Given the description of an element on the screen output the (x, y) to click on. 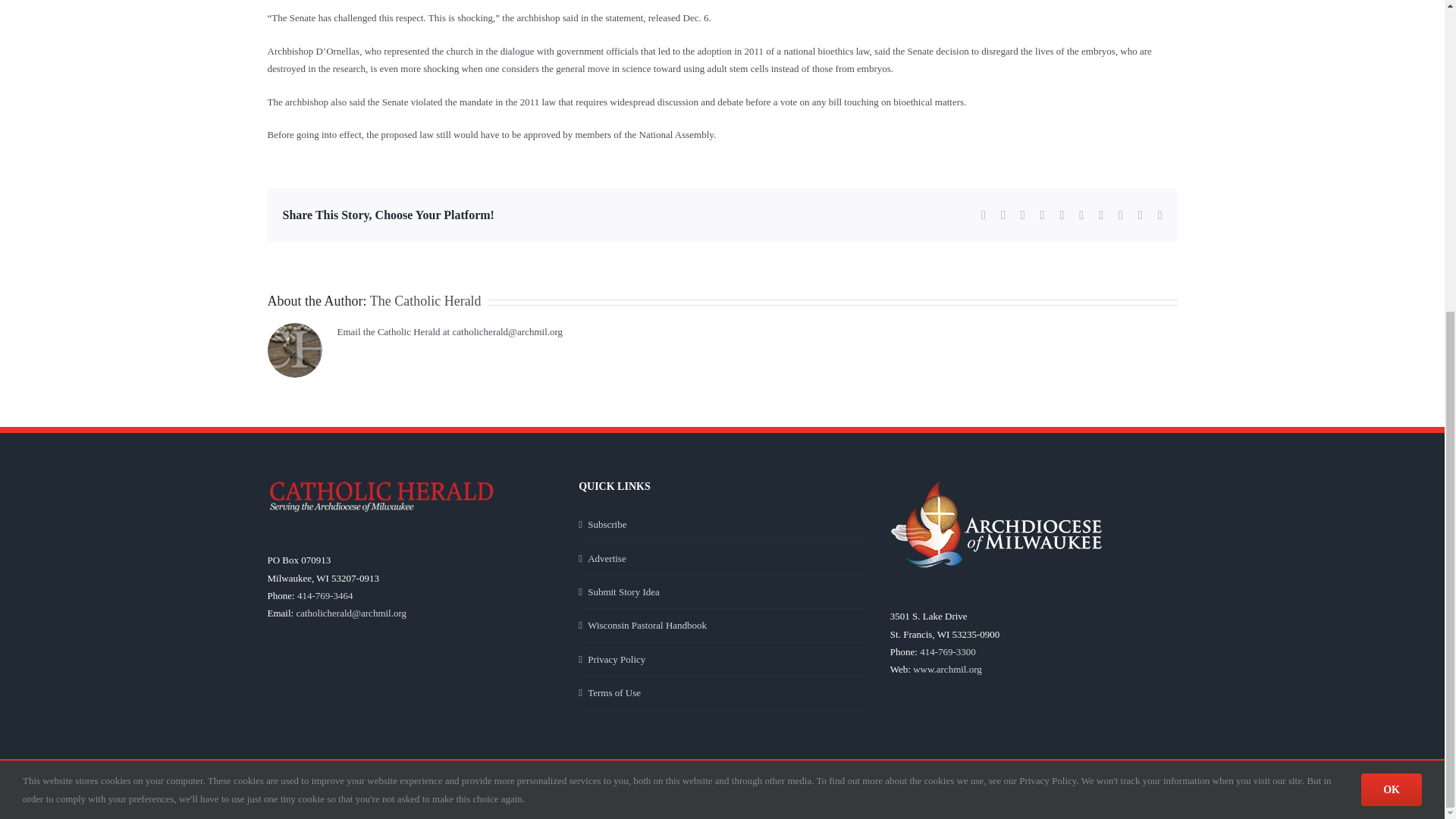
Posts by The Catholic Herald (425, 300)
